Given the description of an element on the screen output the (x, y) to click on. 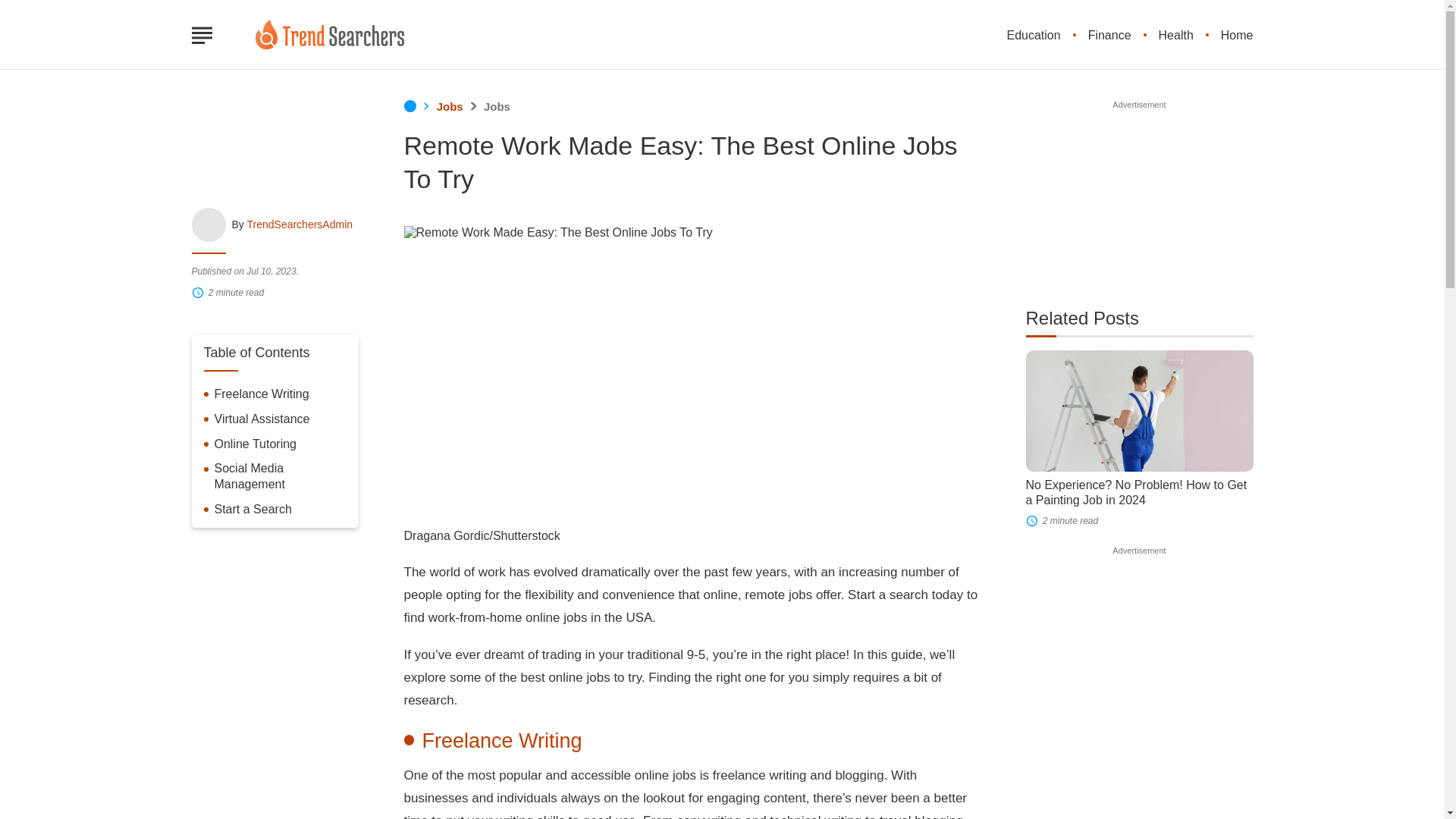
Health (1175, 35)
Virtual Assistance (261, 419)
Social Media Management (280, 477)
Jobs (449, 106)
Education (1032, 35)
Jobs (497, 106)
Home (408, 106)
Home (1237, 35)
No Experience? No Problem! How to Get a Painting Job in 2024 (1135, 492)
No Experience? No Problem! How to Get a Painting Job in 2024 (1138, 410)
Start a Search (252, 509)
Online Tutoring (255, 444)
Finance (1109, 35)
Freelance Writing (261, 394)
